Given the description of an element on the screen output the (x, y) to click on. 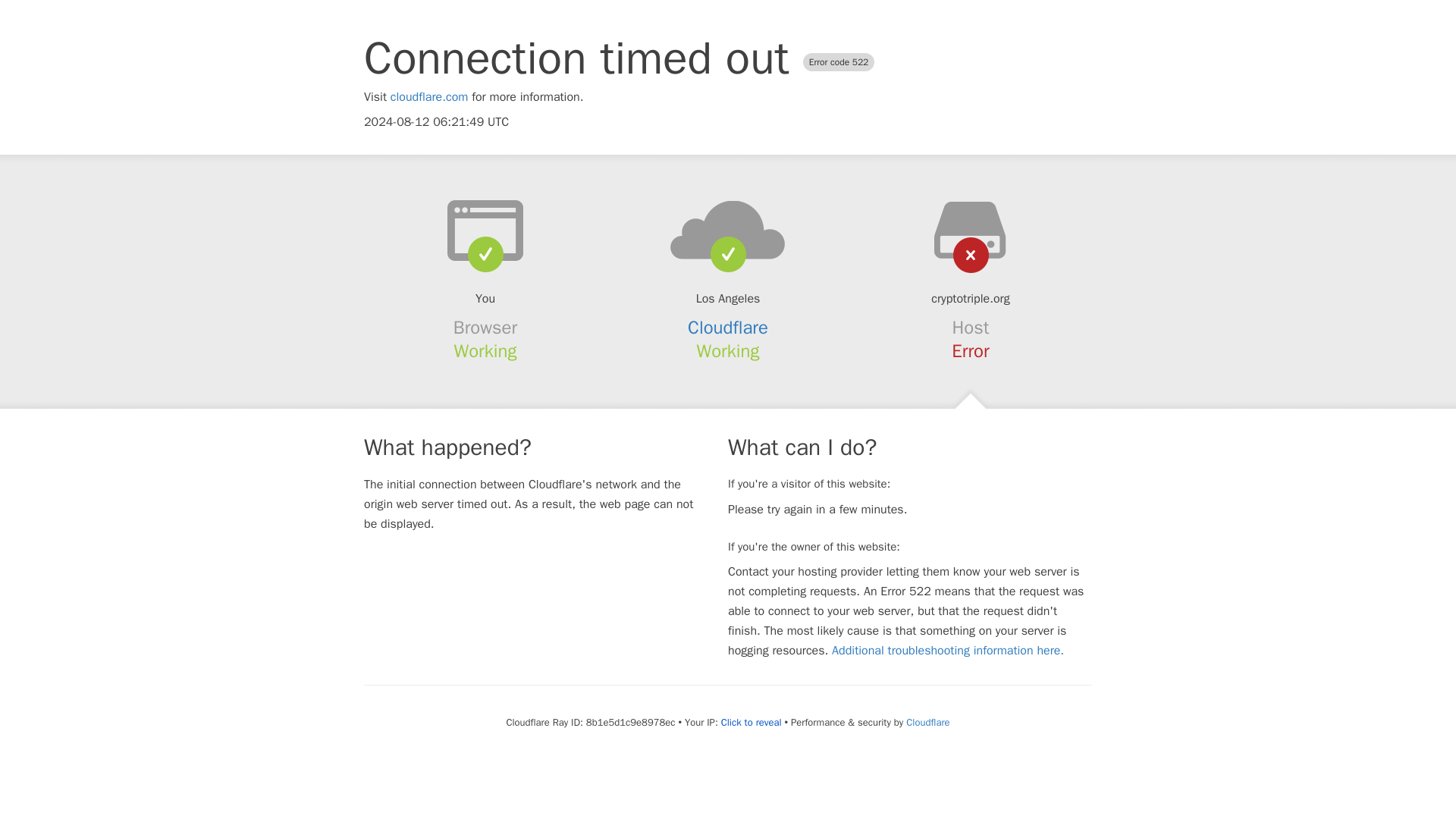
Click to reveal (750, 722)
Cloudflare (927, 721)
cloudflare.com (429, 96)
Additional troubleshooting information here. (947, 650)
Cloudflare (727, 327)
